Given the description of an element on the screen output the (x, y) to click on. 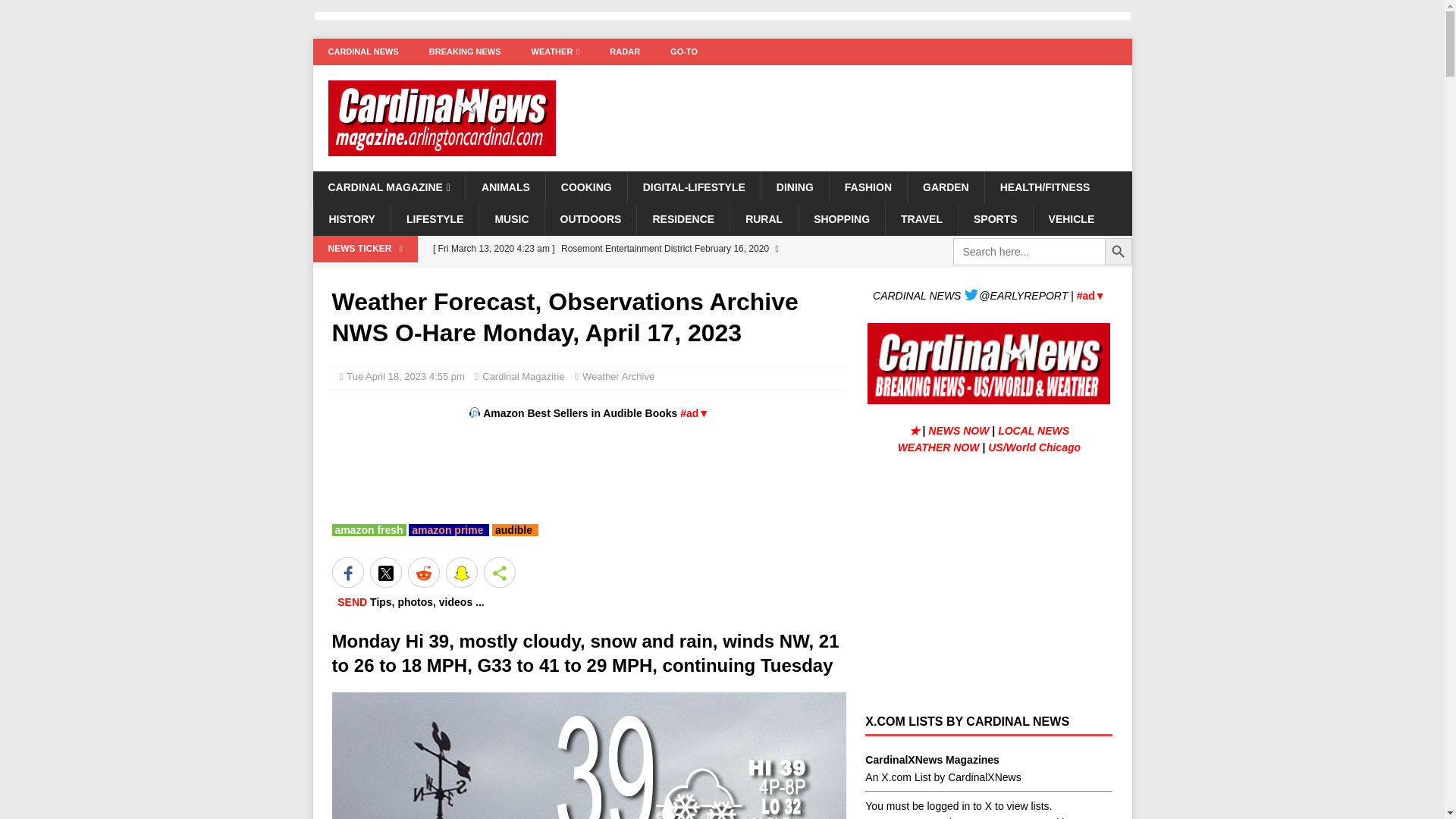
Advertisement (585, 470)
Rosemont Entertainment District February 16, 2020 (634, 261)
CARDINAL NEWS (363, 51)
WEATHER (555, 51)
GO-TO (684, 51)
RADAR (624, 51)
BREAKING NEWS (464, 51)
